Given the description of an element on the screen output the (x, y) to click on. 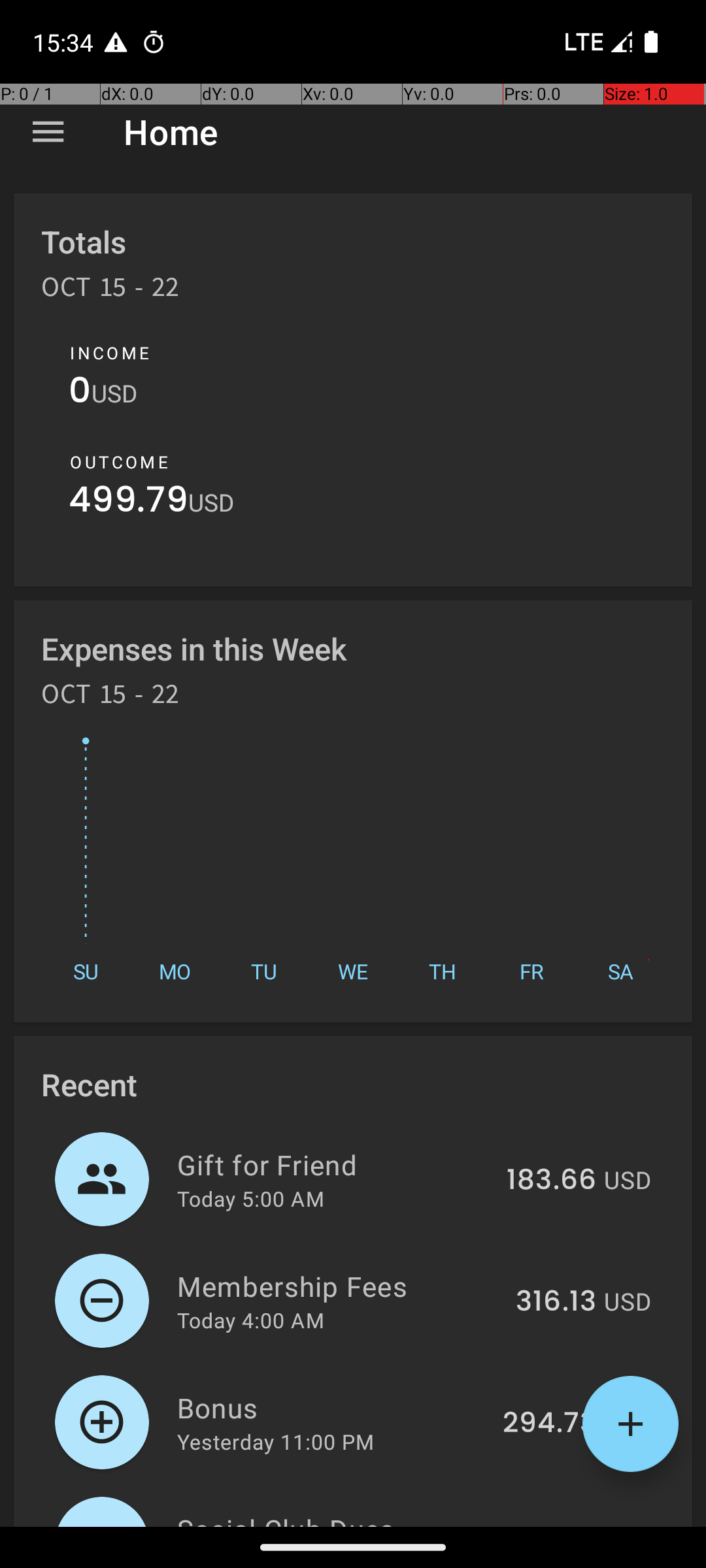
499.79 Element type: android.widget.TextView (128, 502)
Gift for Friend Element type: android.widget.TextView (334, 1164)
Today 5:00 AM Element type: android.widget.TextView (250, 1198)
183.66 Element type: android.widget.TextView (550, 1180)
Membership Fees Element type: android.widget.TextView (338, 1285)
Today 4:00 AM Element type: android.widget.TextView (250, 1320)
316.13 Element type: android.widget.TextView (555, 1301)
Bonus Element type: android.widget.TextView (332, 1407)
Yesterday 11:00 PM Element type: android.widget.TextView (275, 1441)
294.73 Element type: android.widget.TextView (549, 1423)
Social Club Dues Element type: android.widget.TextView (336, 1518)
371.76 Element type: android.widget.TextView (552, 1524)
